Given the description of an element on the screen output the (x, y) to click on. 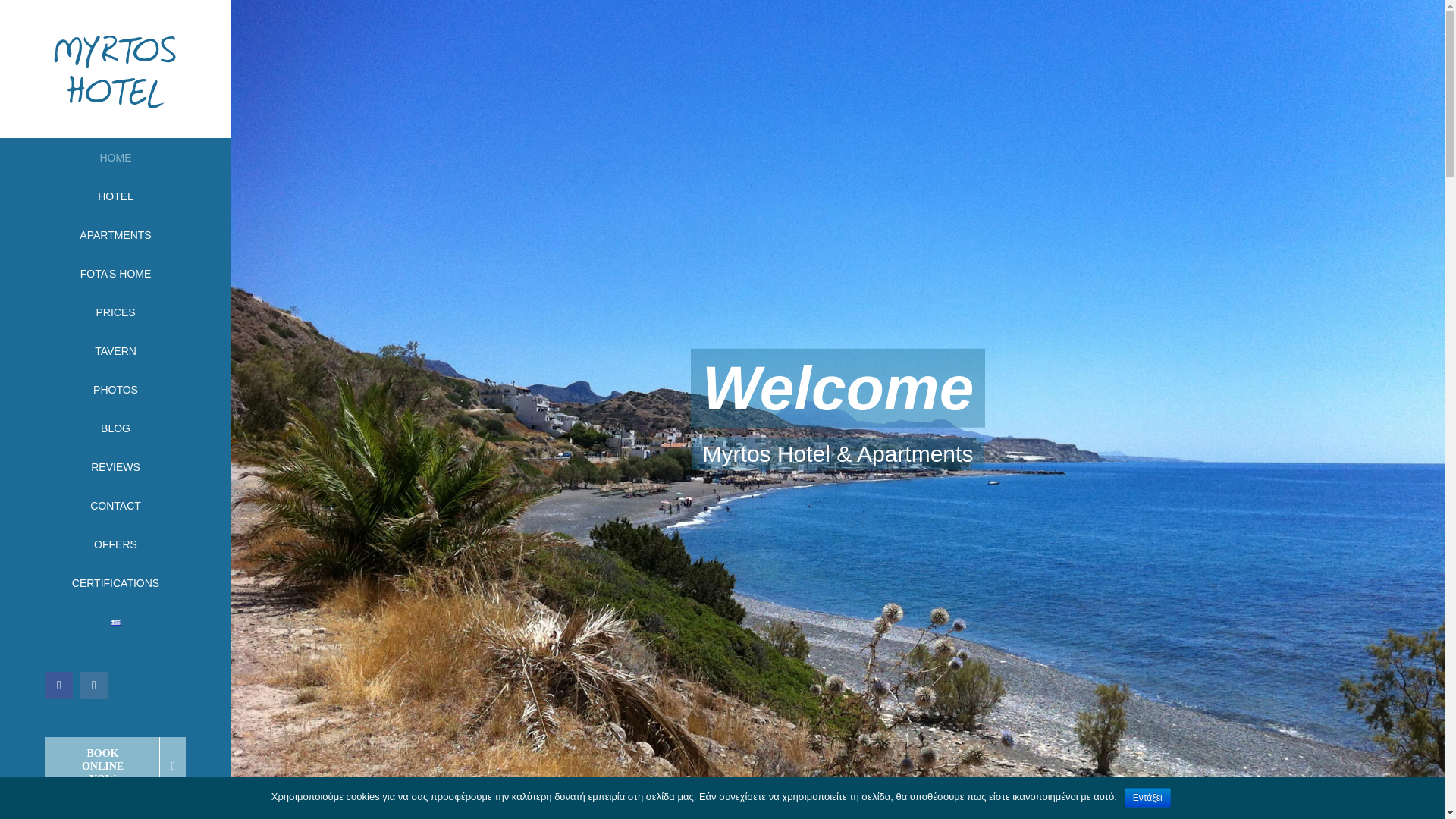
OFFERS (115, 544)
REVIEWS (115, 466)
PHOTOS (115, 390)
HOME (115, 157)
CONTACT (115, 505)
TAVERN (115, 351)
CERTIFICATIONS (115, 583)
BLOG (115, 428)
PRICES (115, 312)
APARTMENTS (115, 235)
HOTEL (115, 196)
